Given the description of an element on the screen output the (x, y) to click on. 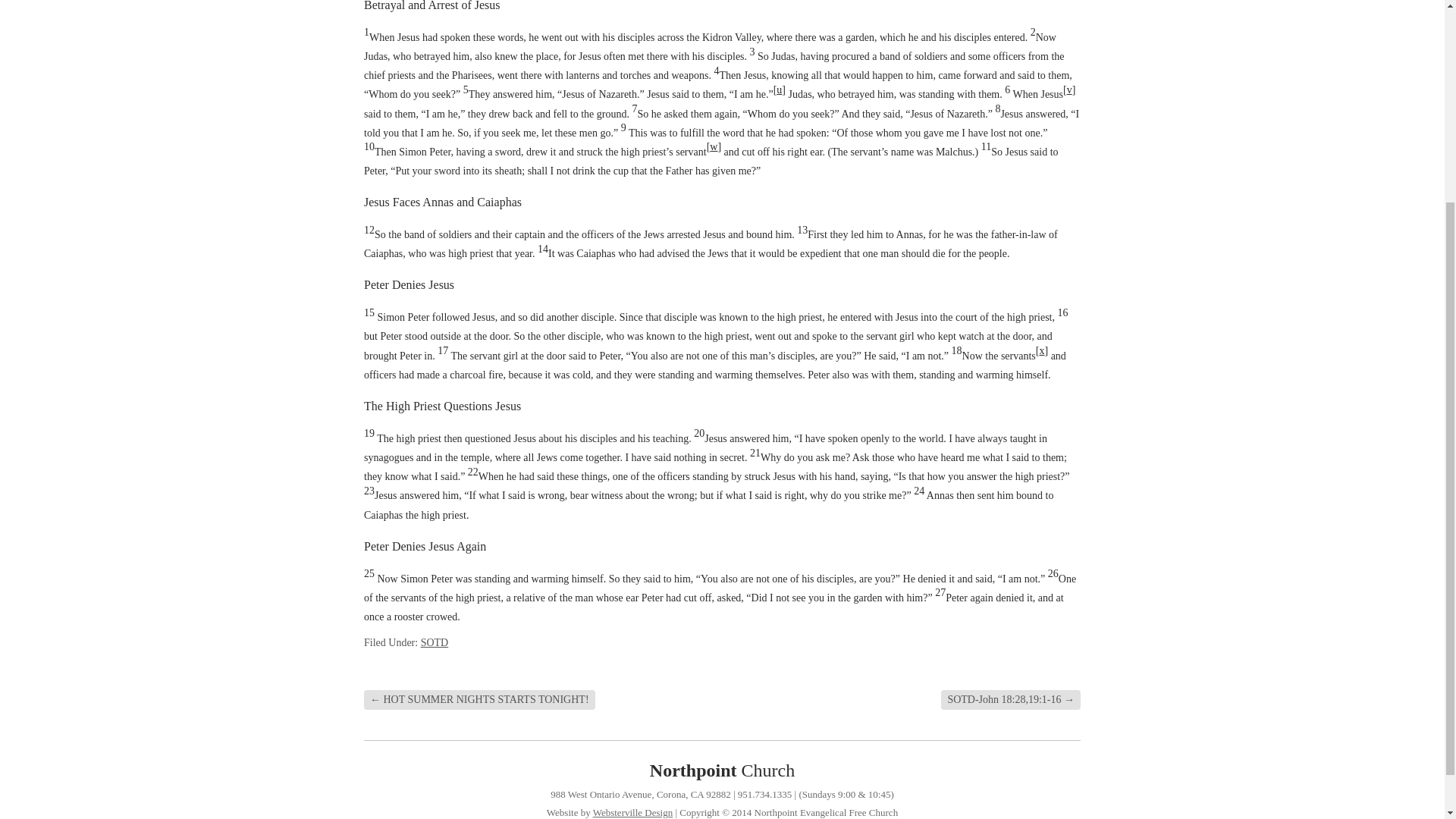
"See (1068, 89)
"See (713, 146)
"See (1041, 350)
"See (779, 89)
